Given the description of an element on the screen output the (x, y) to click on. 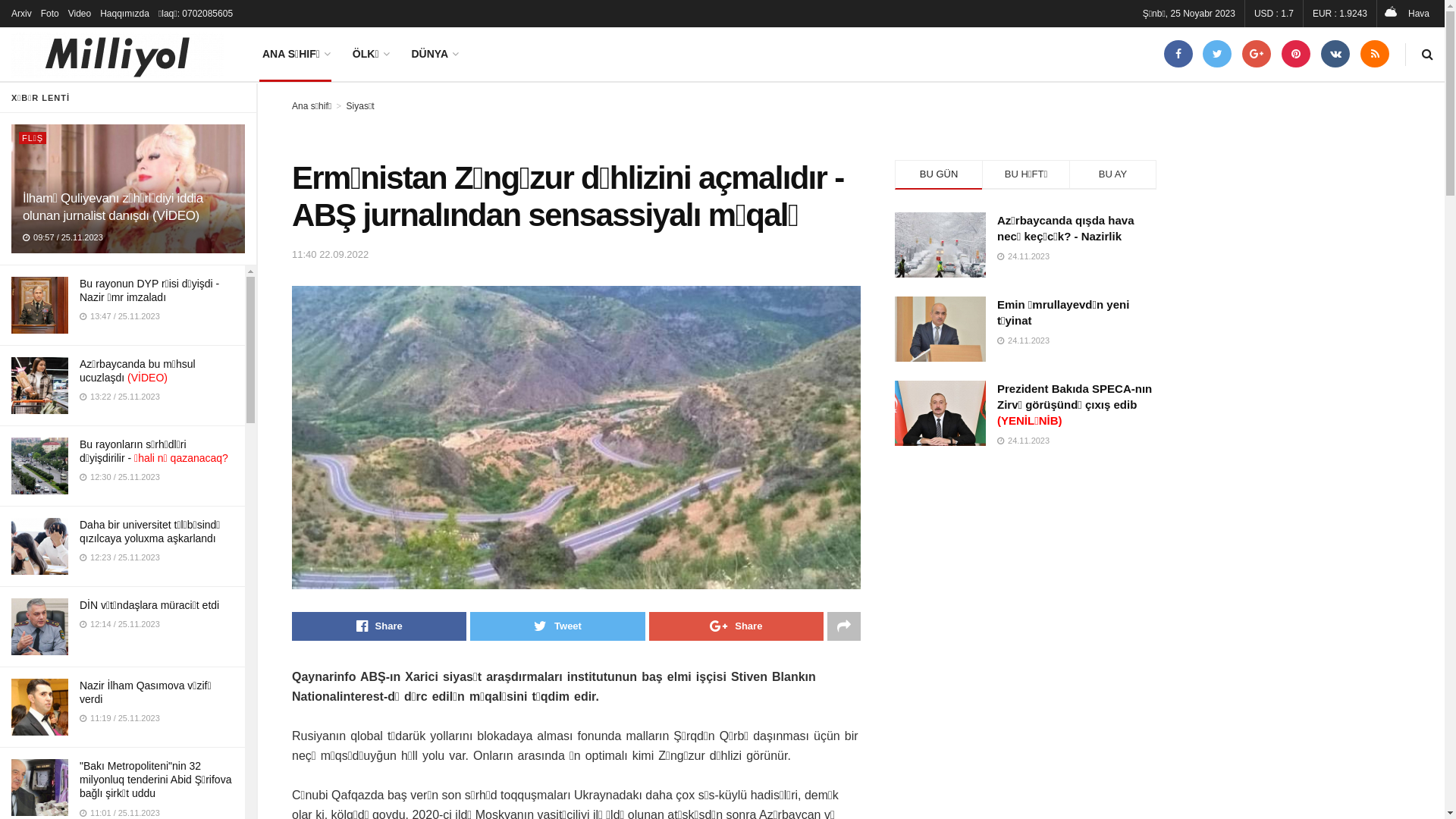
11:40 22.09.2022 Element type: text (329, 254)
Tweet Element type: text (557, 625)
Video Element type: text (79, 13)
Share Element type: text (378, 625)
Share Element type: text (736, 625)
Foto Element type: text (49, 13)
Arxiv Element type: text (21, 13)
